Given the description of an element on the screen output the (x, y) to click on. 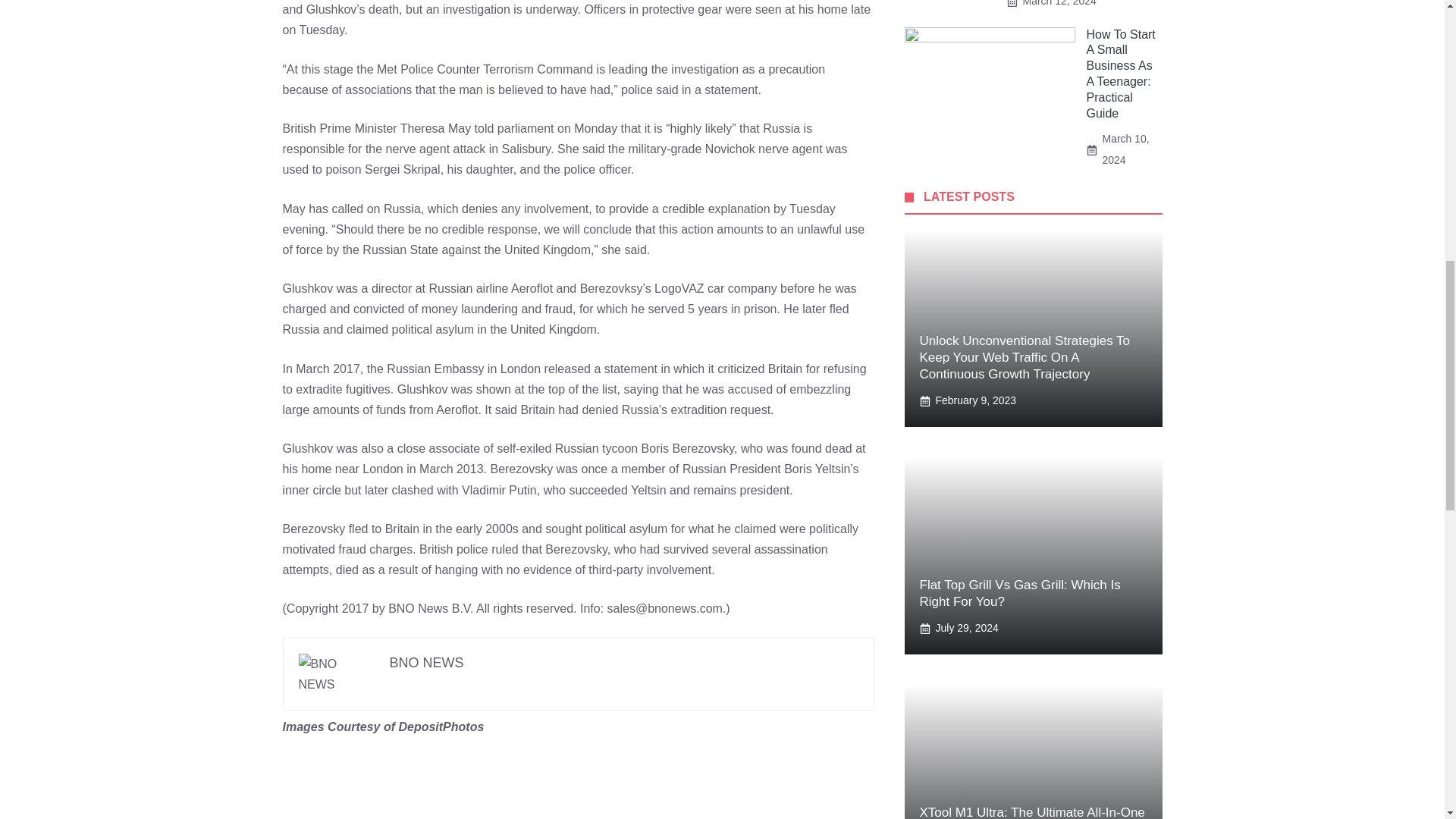
Flat Top Grill Vs Gas Grill: Which Is Right For You? (1018, 593)
BNO NEWS (427, 662)
DepositPhotos (440, 726)
Scroll back to top (1406, 720)
XTool M1 Ultra: The Ultimate All-In-One Craft Machine (1031, 812)
